Given the description of an element on the screen output the (x, y) to click on. 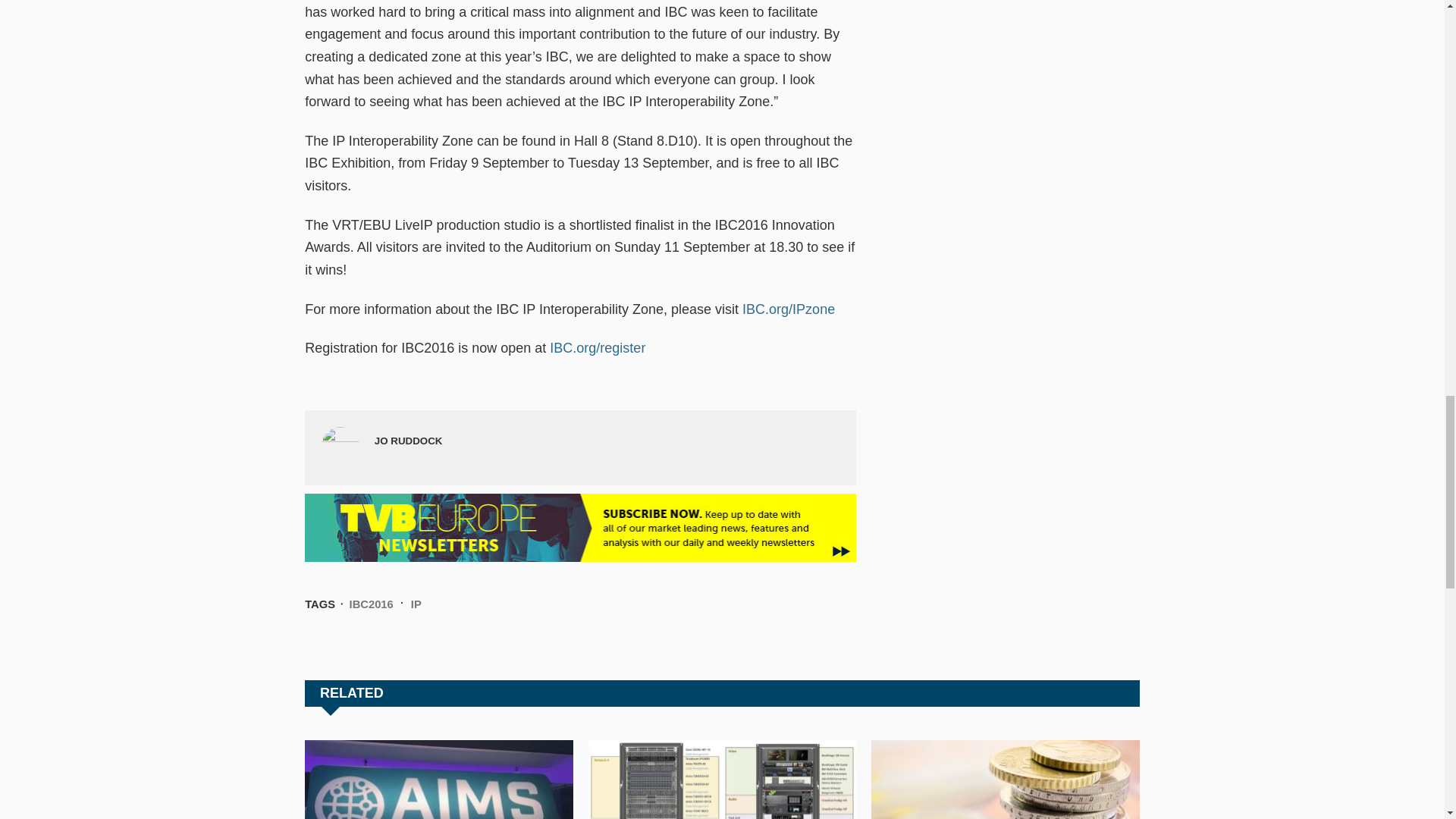
Jo Ruddock's Author Profile (408, 440)
